Given the description of an element on the screen output the (x, y) to click on. 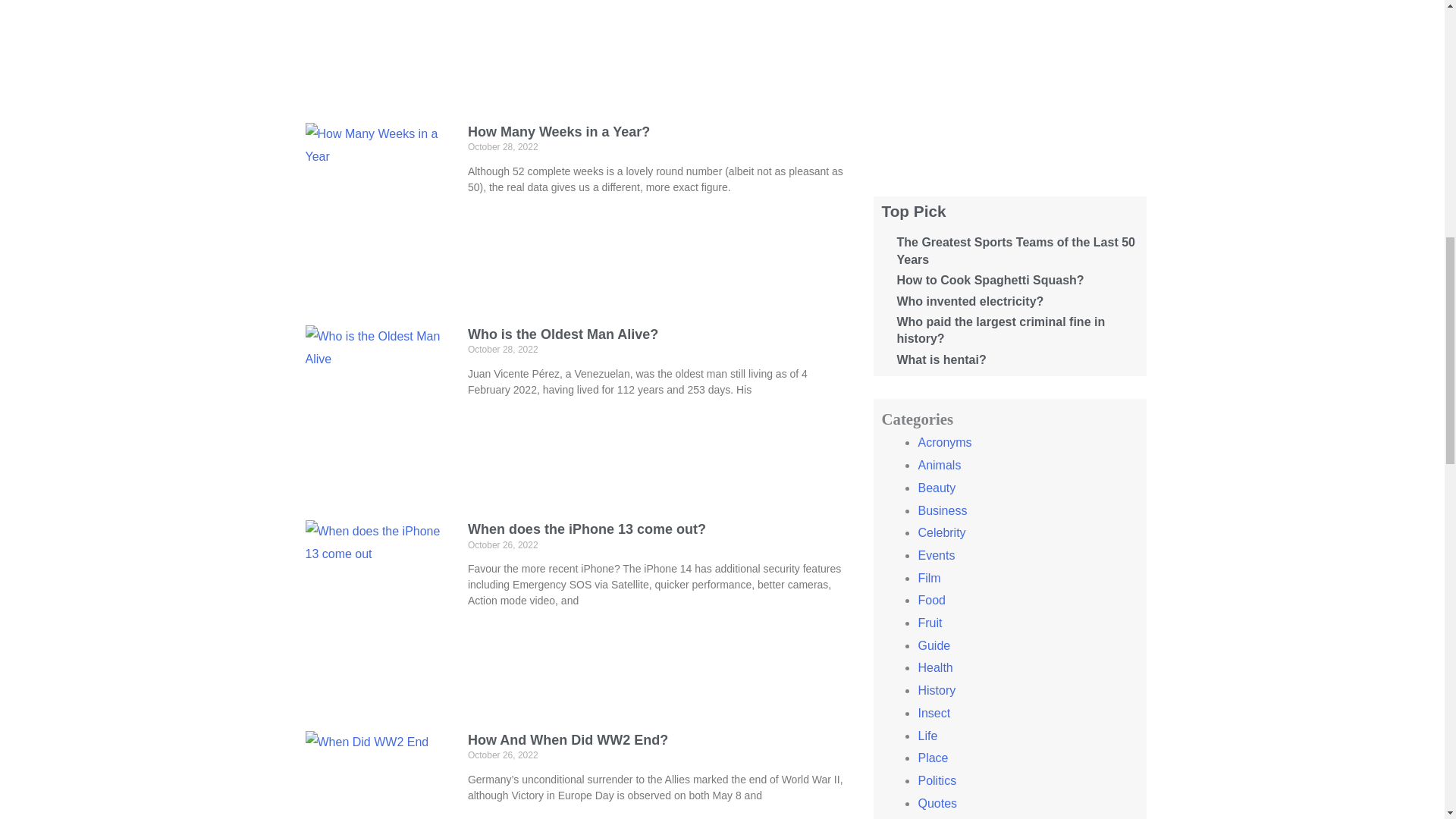
How And When Did WW2 End? (567, 739)
How Many Weeks in a Year? (558, 131)
Who is the Oldest Man Alive? (562, 334)
When does the iPhone 13 come out? (586, 529)
